Given the description of an element on the screen output the (x, y) to click on. 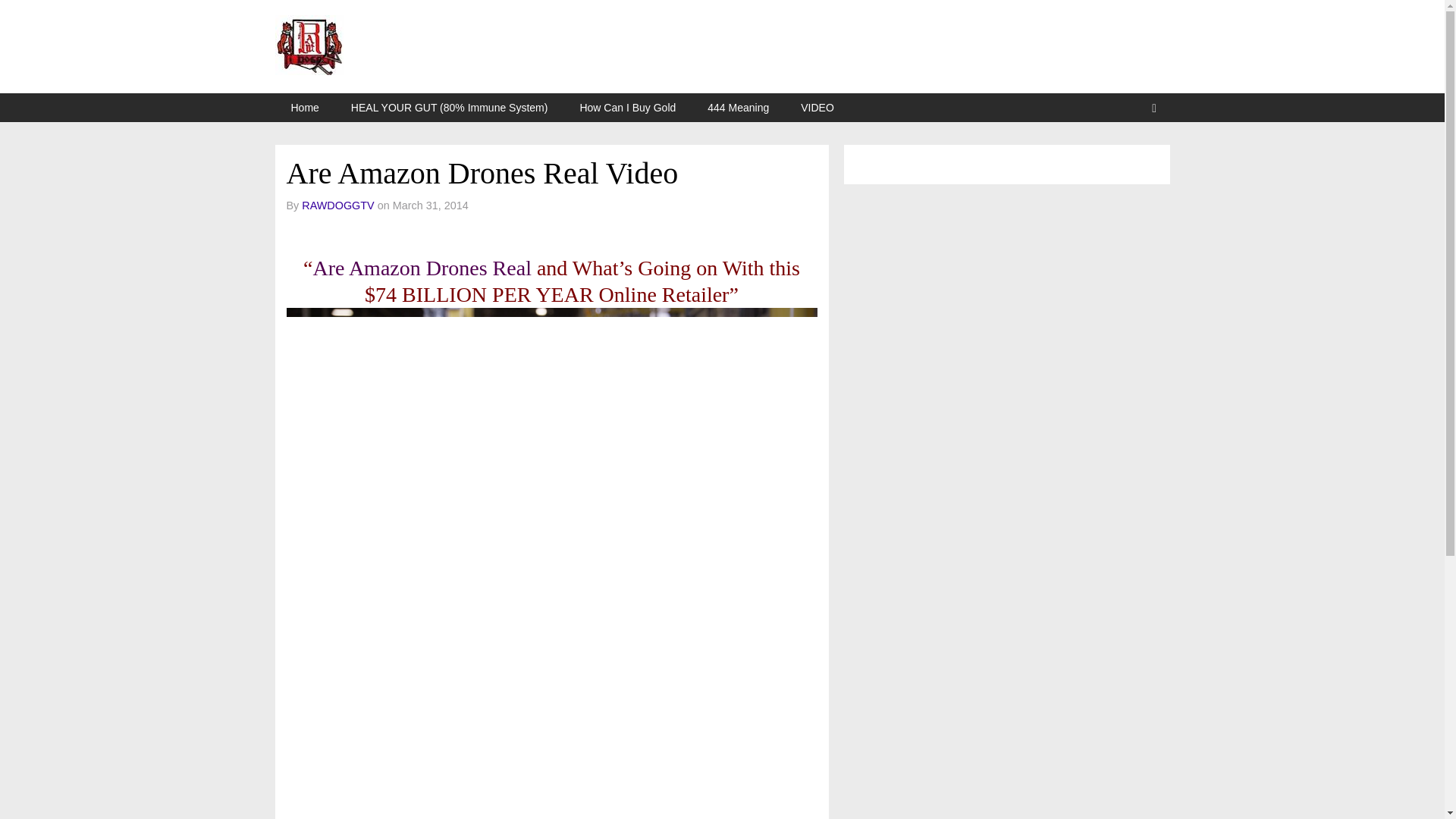
English (864, 162)
Home (304, 107)
German (936, 162)
RAWDOGGTV (337, 205)
Chinese Simplified (972, 162)
Russian (954, 162)
How Can I Buy Gold (627, 107)
Spanish (881, 162)
View all posts by RAWDOGGTV (337, 205)
Chinese Traditional (1045, 162)
Search (1153, 107)
French (899, 162)
Arabic (1027, 162)
Hindi (1009, 162)
